Given the description of an element on the screen output the (x, y) to click on. 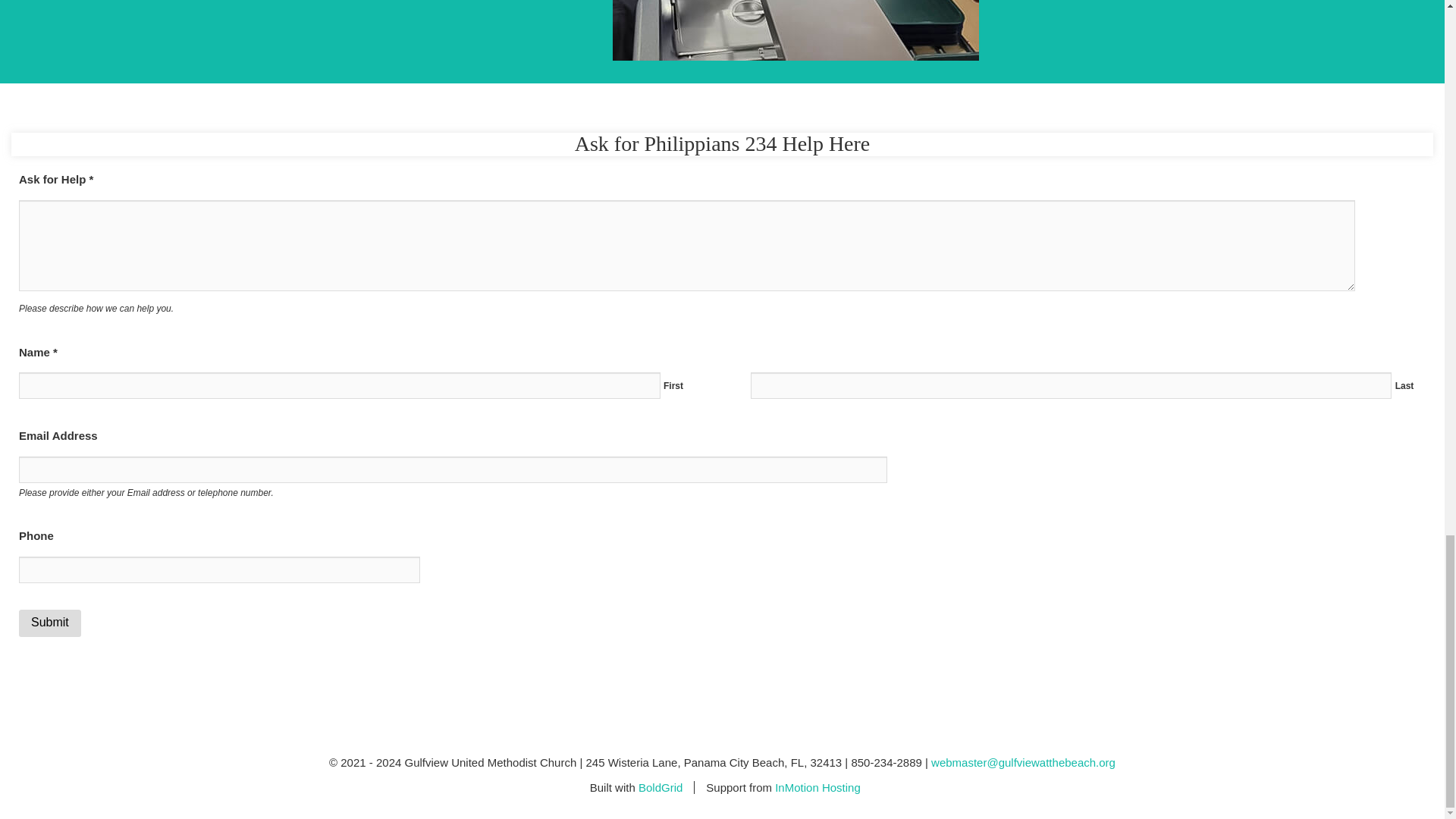
Submit (49, 622)
Submit (49, 622)
